Given the description of an element on the screen output the (x, y) to click on. 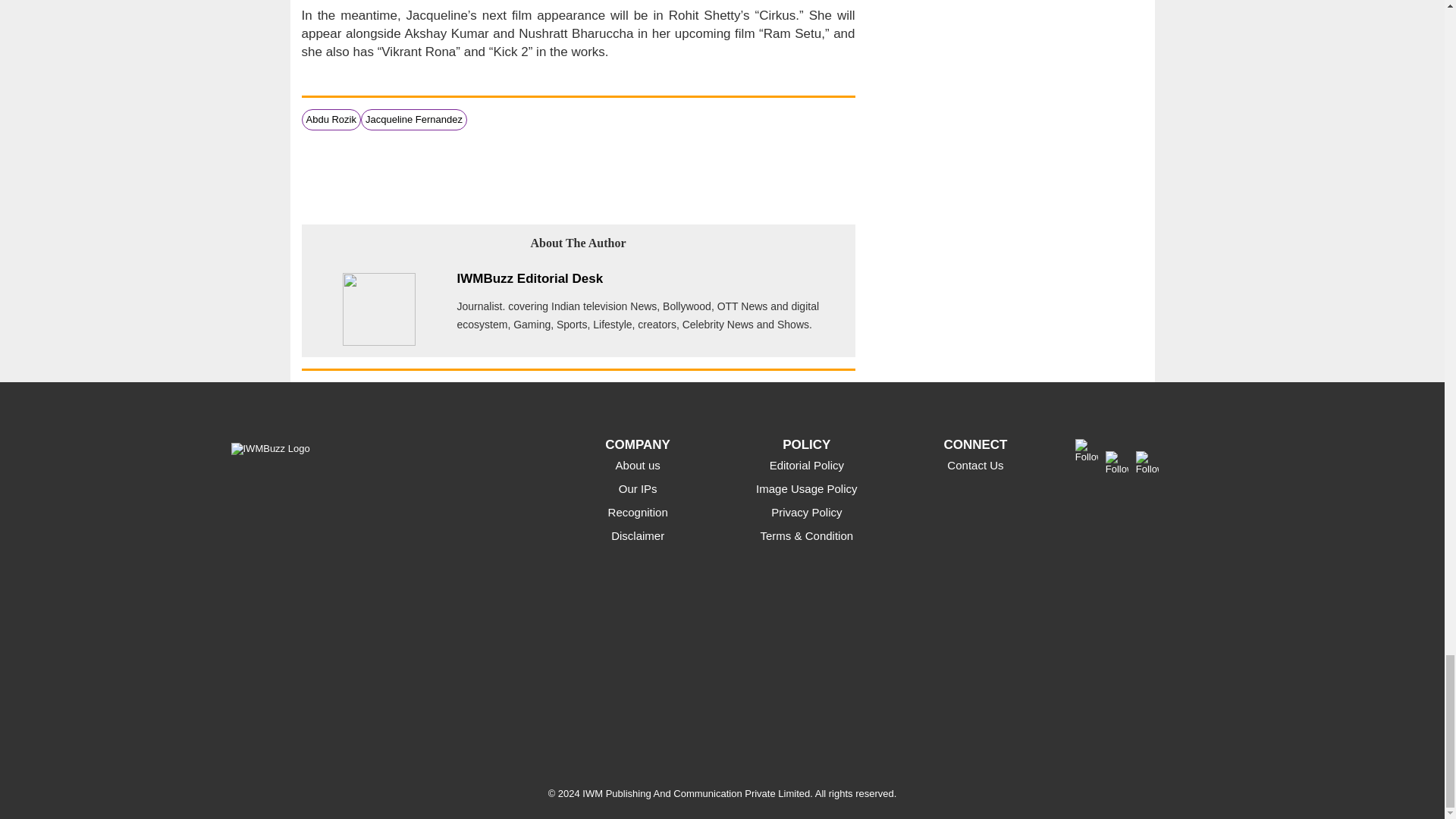
Jacqueline Fernandez (414, 119)
Abdu Rozik (330, 119)
IWMBuzz Editorial Desk (529, 278)
